Given the description of an element on the screen output the (x, y) to click on. 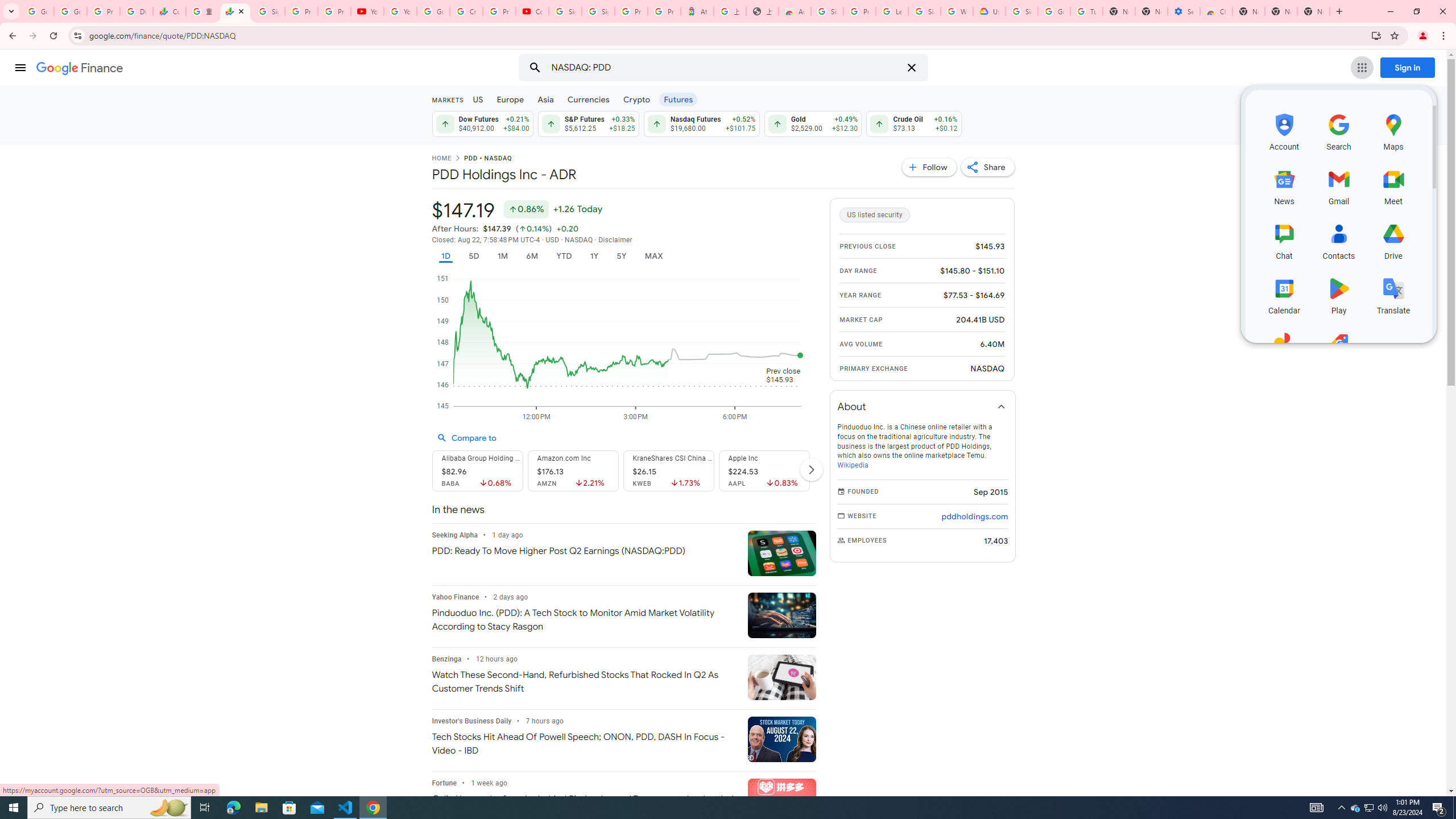
Create your Google Account (465, 11)
MAX (653, 255)
Gold $2,529.00 Up by 0.48% +$12.30 (812, 123)
Sign in - Google Accounts (924, 11)
Who are Google's partners? - Privacy and conditions - Google (957, 11)
Asia (545, 99)
YTD (563, 255)
Follow (929, 167)
Wikipedia (852, 465)
